Given the description of an element on the screen output the (x, y) to click on. 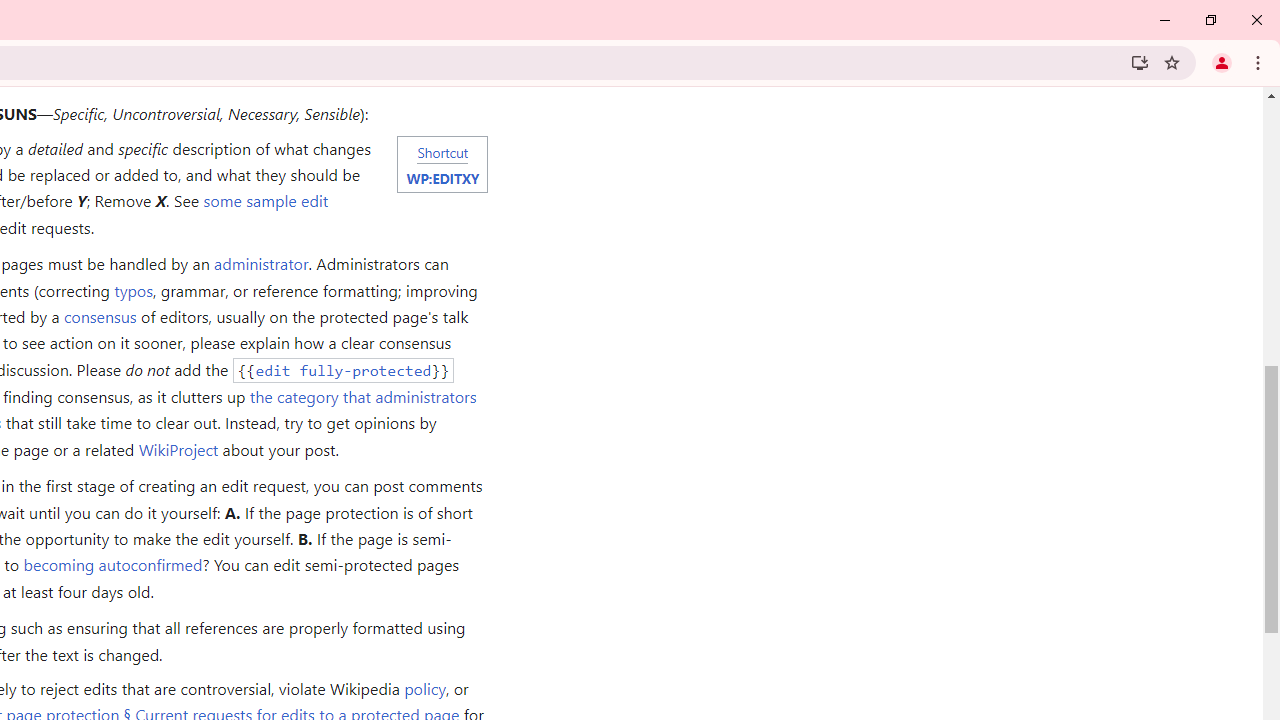
WP:EDITXY (441, 177)
typos (133, 289)
becoming autoconfirmed (113, 564)
WikiProject (178, 448)
policy (424, 687)
Shortcut (442, 151)
Install Wikipedia (1139, 62)
administrator (260, 263)
consensus (99, 315)
